Given the description of an element on the screen output the (x, y) to click on. 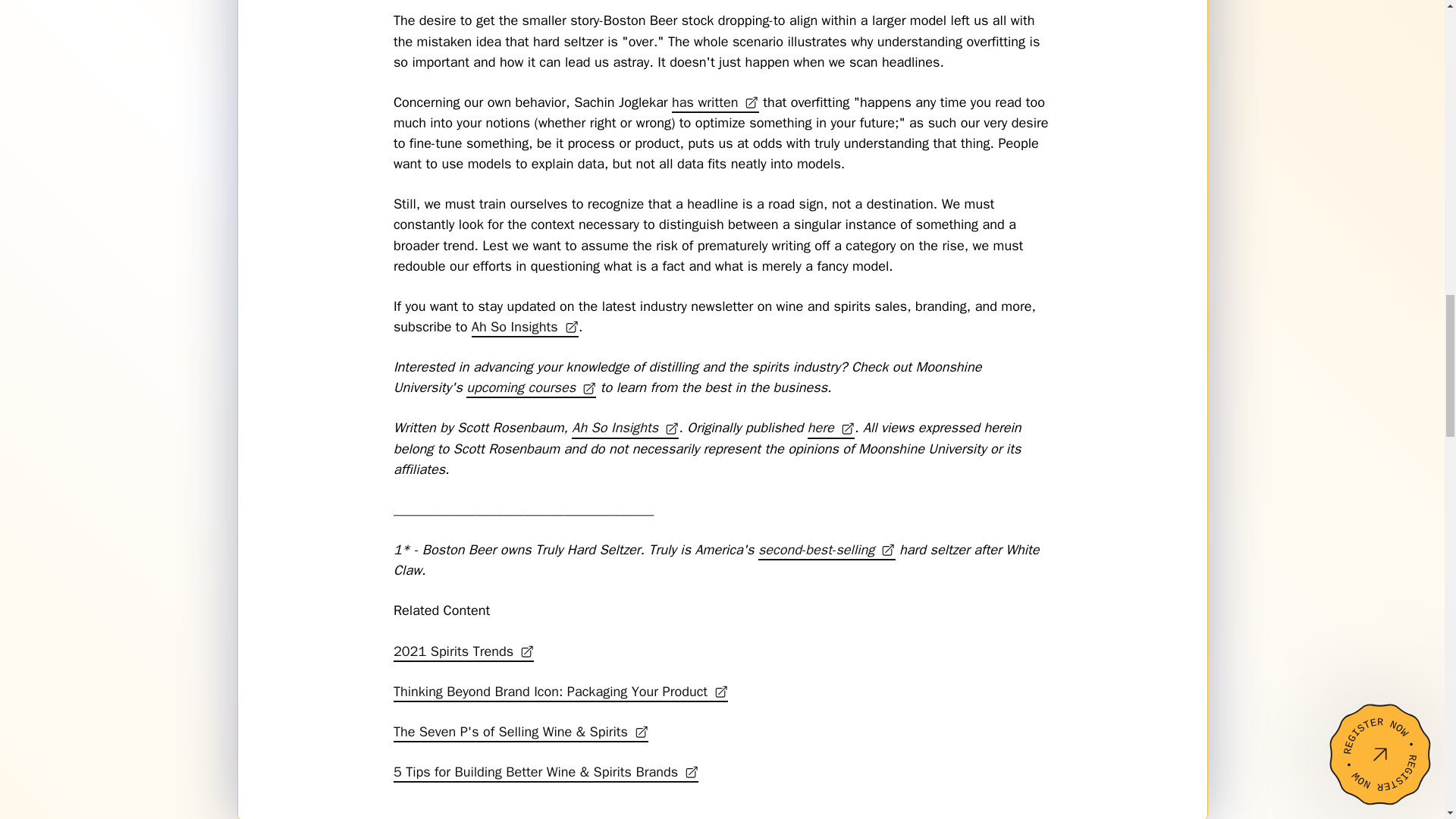
Thinking Beyond Brand Icon: Packaging Your Product (561, 691)
has written (714, 102)
2021 Spirits Trends (463, 651)
here (831, 427)
Ah So Insights (524, 326)
upcoming courses (530, 387)
Ah So Insights (625, 427)
second-best-selling (826, 549)
